Given the description of an element on the screen output the (x, y) to click on. 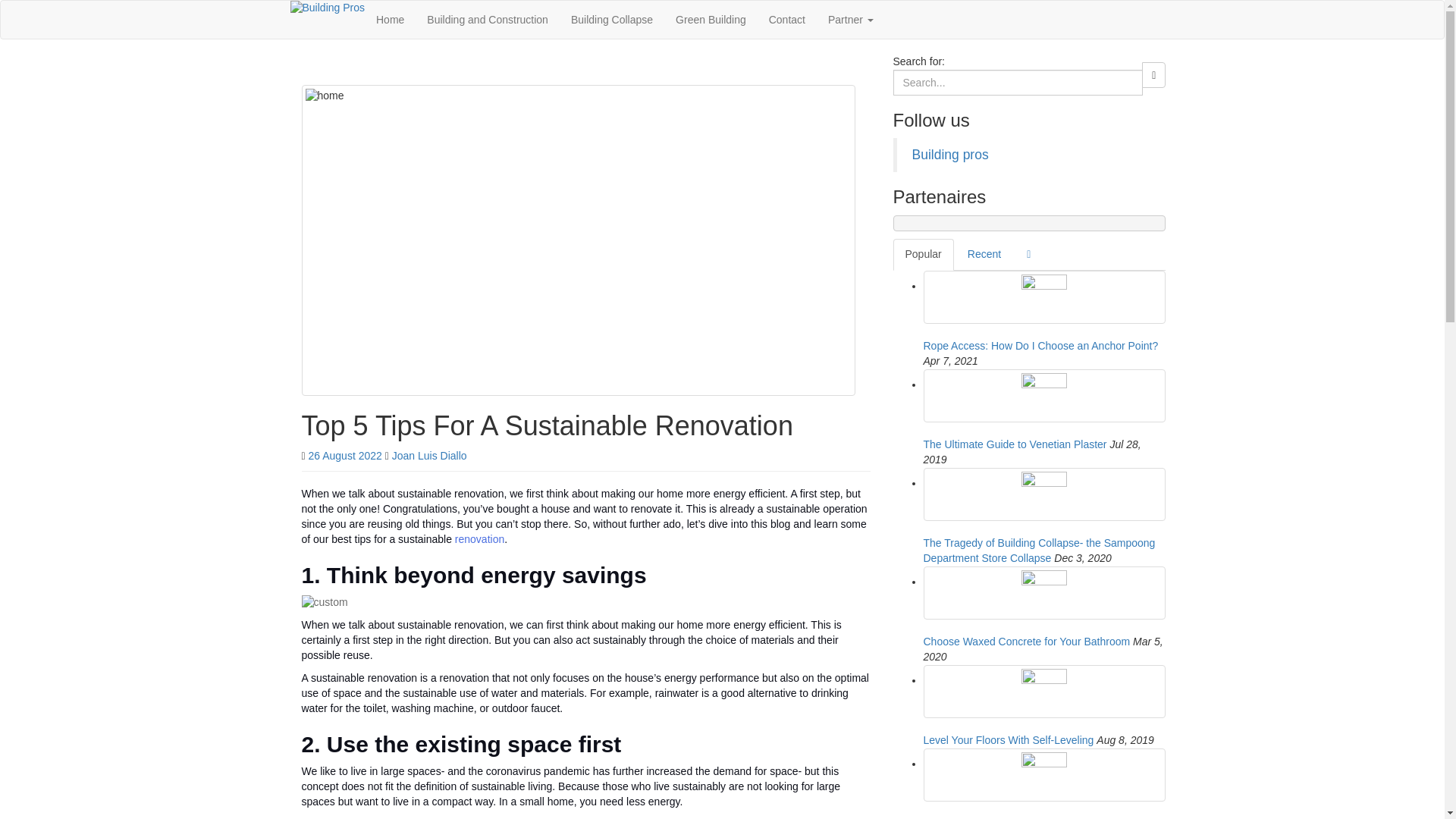
Joan Luis Diallo (429, 455)
The Ultimate Guide to Venetian Plaster (1044, 395)
Building and Construction (486, 19)
Search (1153, 74)
Partner (850, 19)
Contact (786, 19)
renovation (478, 539)
Building and Construction (486, 19)
Popular (923, 255)
Building Collapse (611, 19)
